Given the description of an element on the screen output the (x, y) to click on. 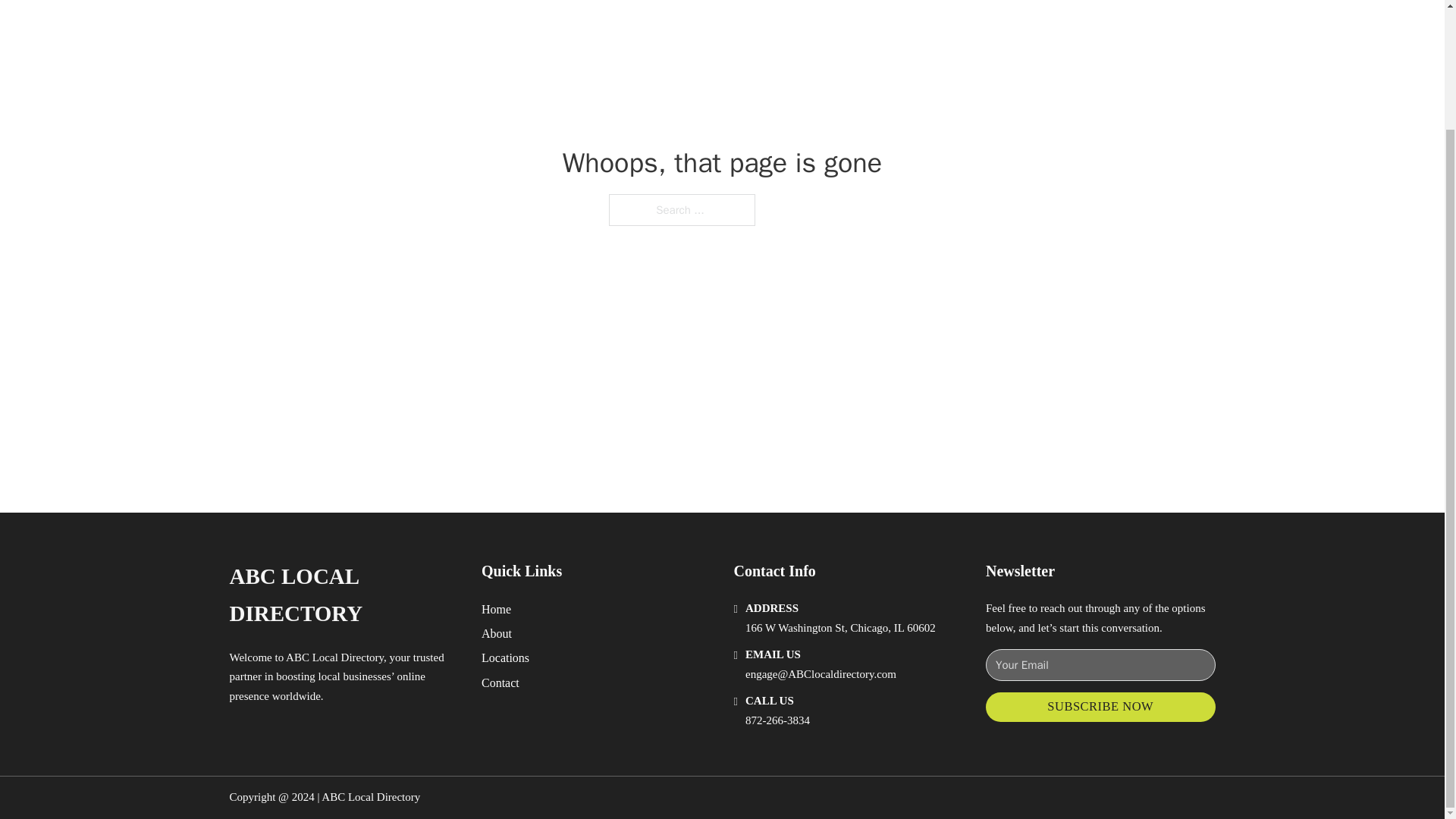
SUBSCRIBE NOW (1100, 706)
Home (496, 608)
Contact (500, 682)
Locations (505, 657)
872-266-3834 (777, 720)
ABC LOCAL DIRECTORY (343, 595)
About (496, 633)
